Given the description of an element on the screen output the (x, y) to click on. 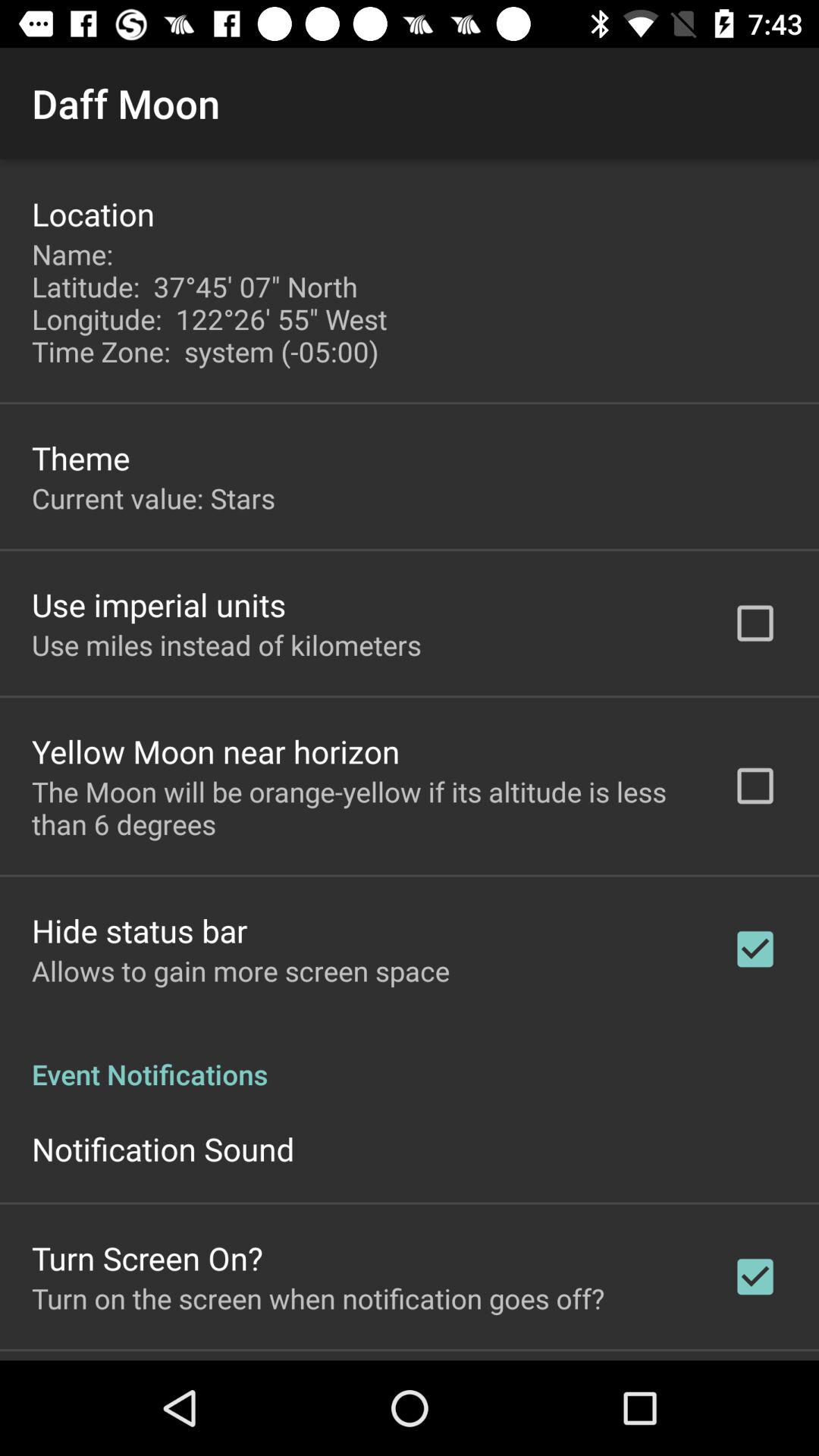
open item below the theme (153, 497)
